Given the description of an element on the screen output the (x, y) to click on. 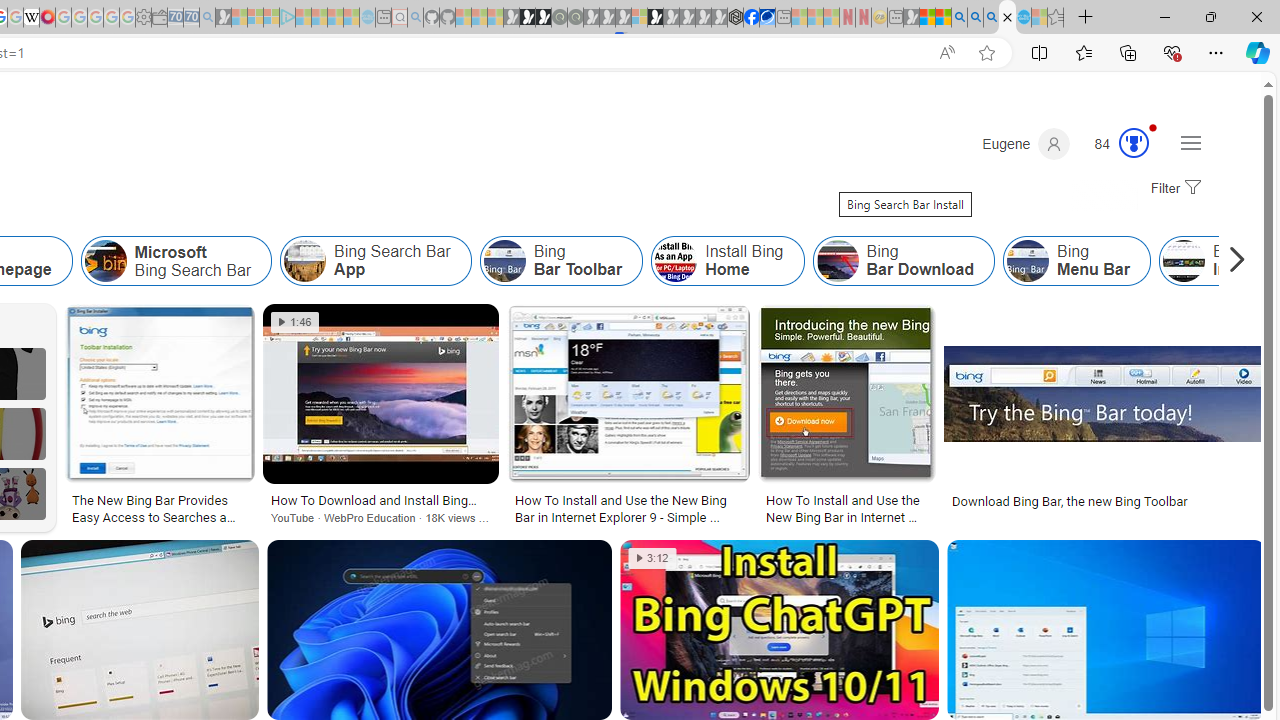
Filter (1173, 189)
Image result for Bing Search Bar Install (1106, 630)
Favorites - Sleeping (1055, 17)
AutomationID: rh_meter (1133, 142)
Bing Image Search Not Working (1183, 260)
3:12 (652, 558)
Wallet - Sleeping (159, 17)
